Given the description of an element on the screen output the (x, y) to click on. 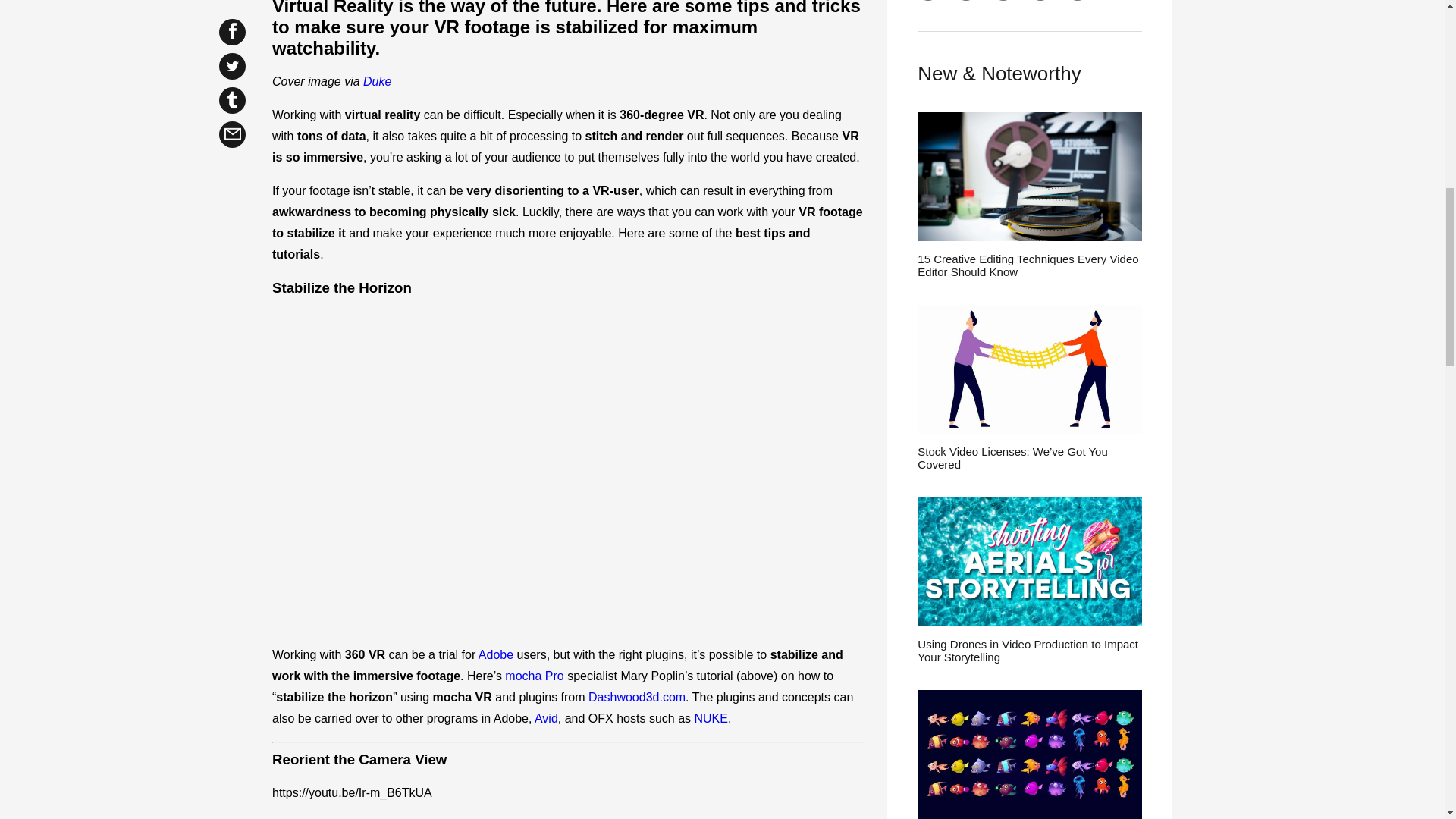
Duke (376, 81)
Dashwood3d.com (636, 697)
Adobe (496, 654)
mocha Pro (534, 675)
Avid (545, 717)
